Given the description of an element on the screen output the (x, y) to click on. 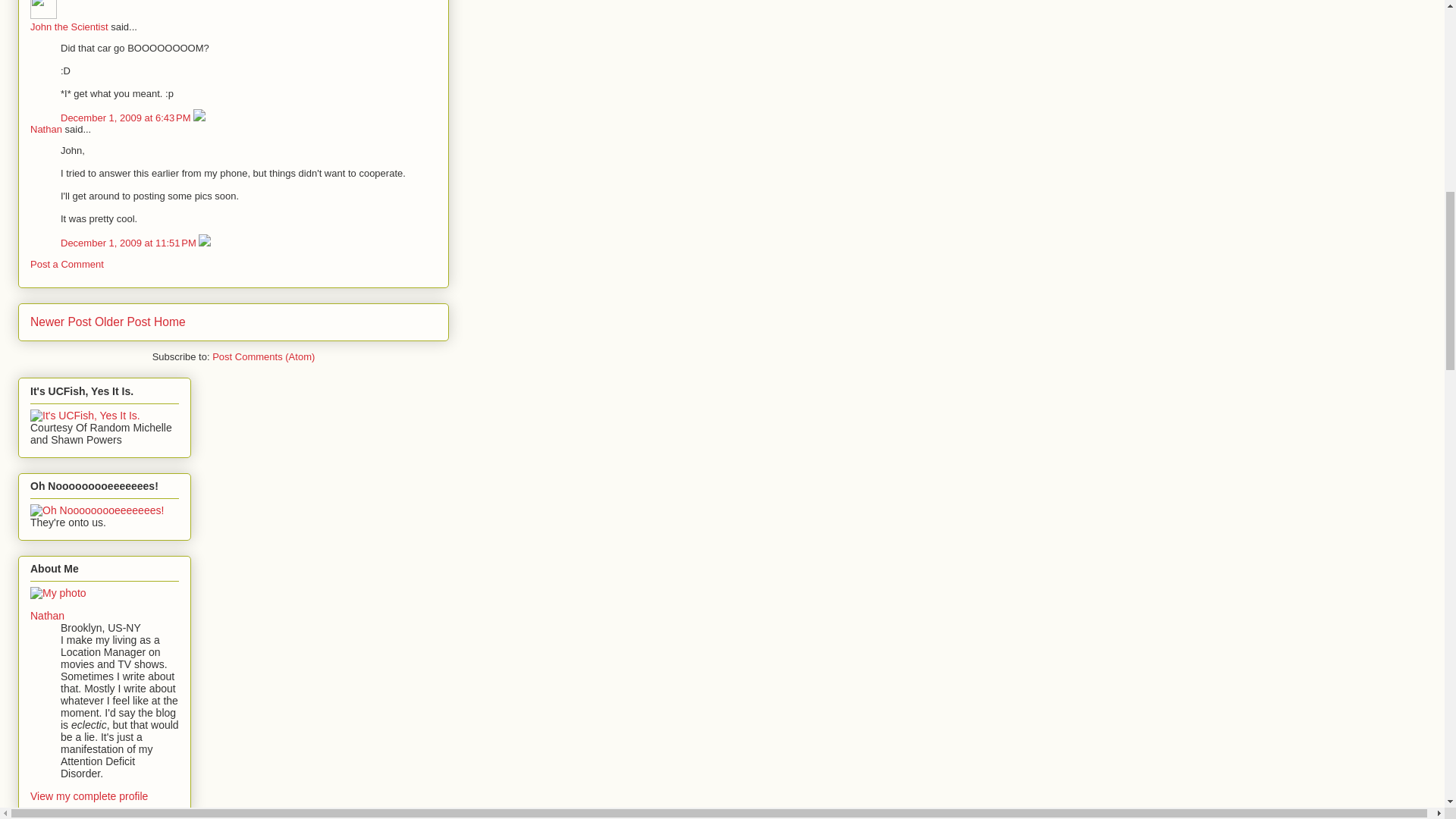
Home (170, 321)
Nathan (46, 129)
comment permalink (127, 117)
Older Post (122, 321)
Newer Post (60, 321)
Post a Comment (66, 264)
Delete Comment (199, 117)
Nathan (47, 615)
John the Scientist (68, 26)
View my complete profile (89, 796)
John the Scientist (43, 9)
